Given the description of an element on the screen output the (x, y) to click on. 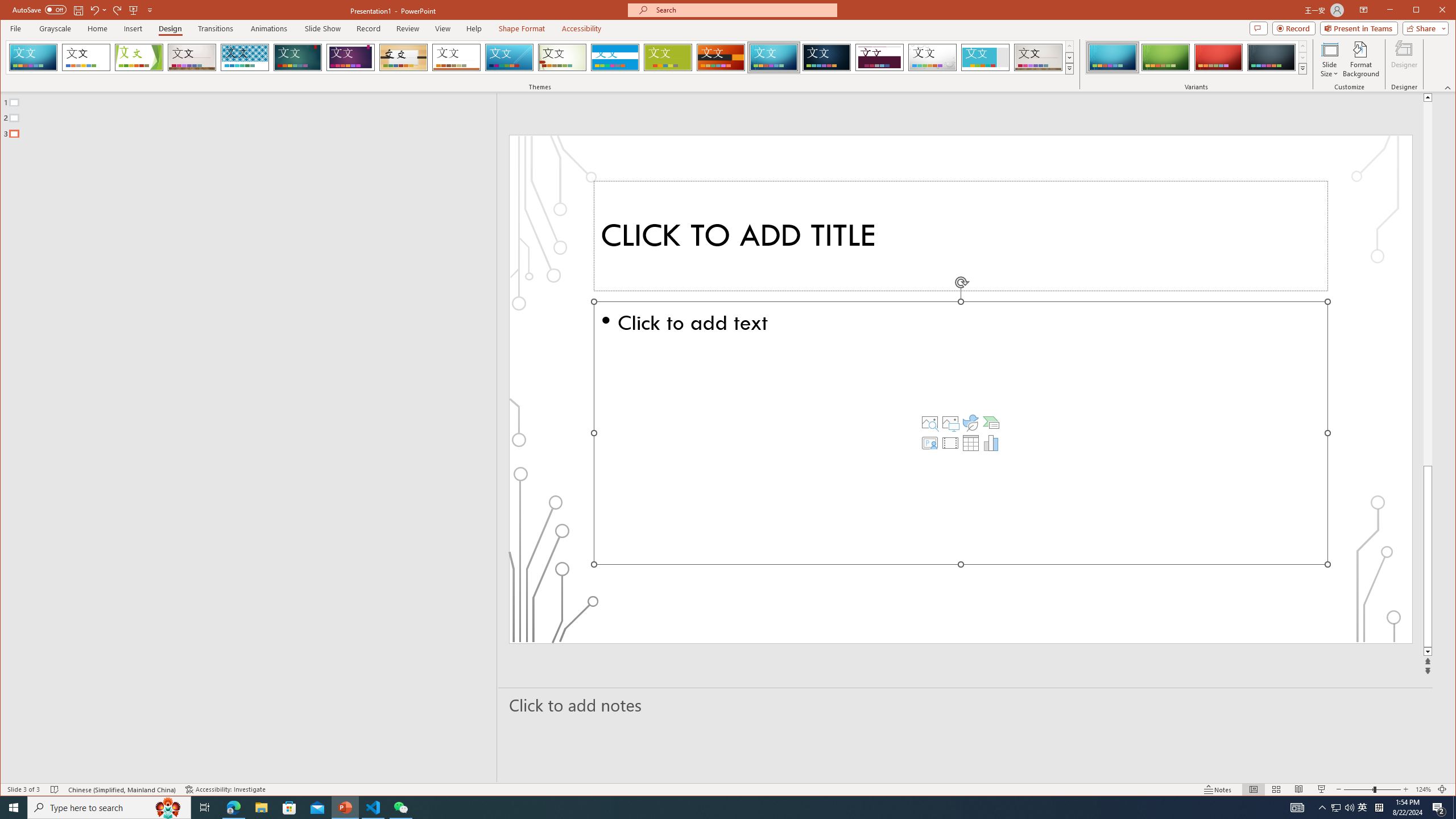
Insert Cameo (929, 443)
Grayscale (55, 28)
Circuit Variant 1 (1112, 57)
